Given the description of an element on the screen output the (x, y) to click on. 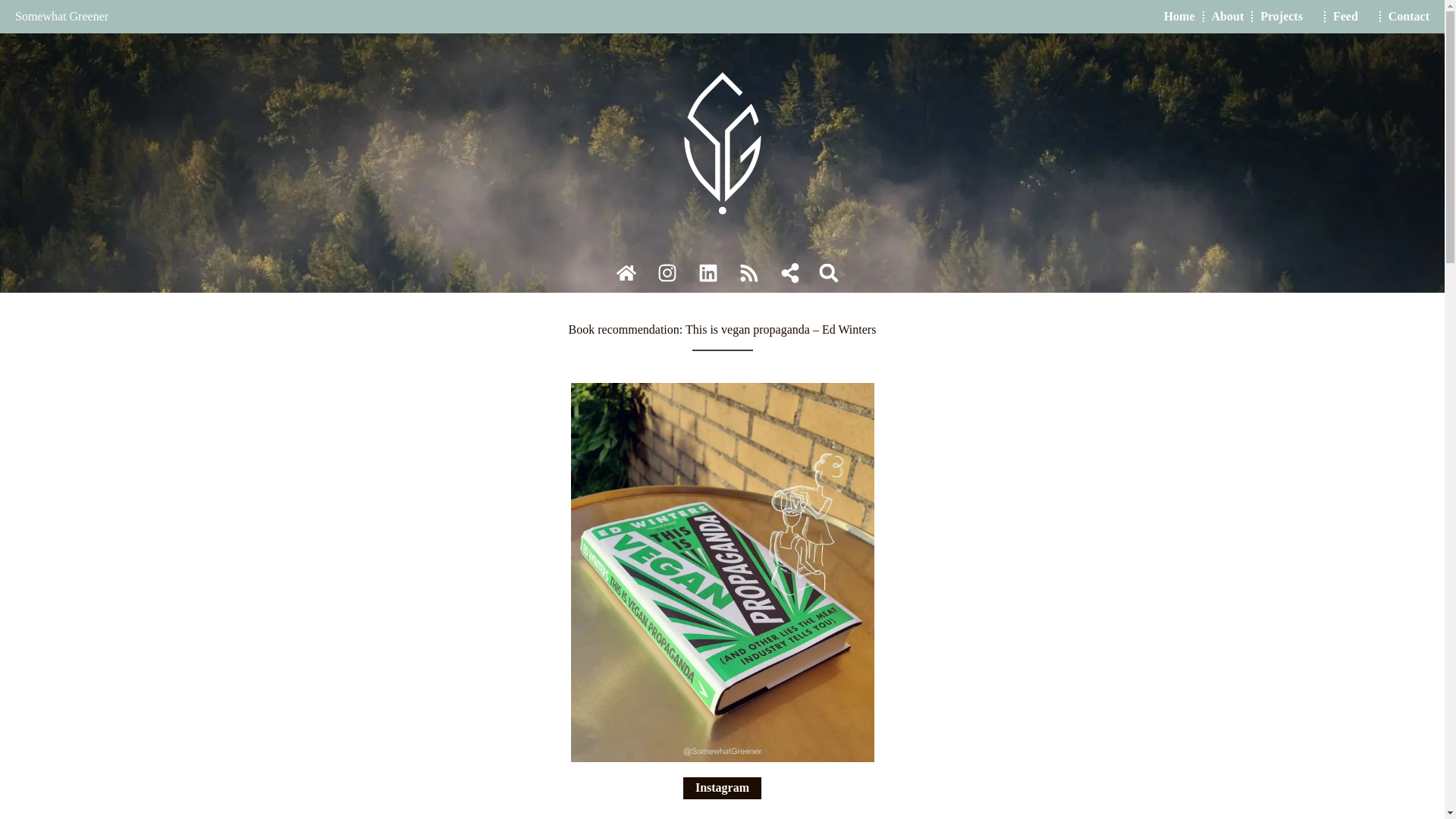
Contact (1409, 16)
About (1227, 16)
Home (1179, 16)
Projects (1288, 16)
Instagram (721, 787)
Feed (1352, 16)
Somewhat Greener (60, 15)
